Given the description of an element on the screen output the (x, y) to click on. 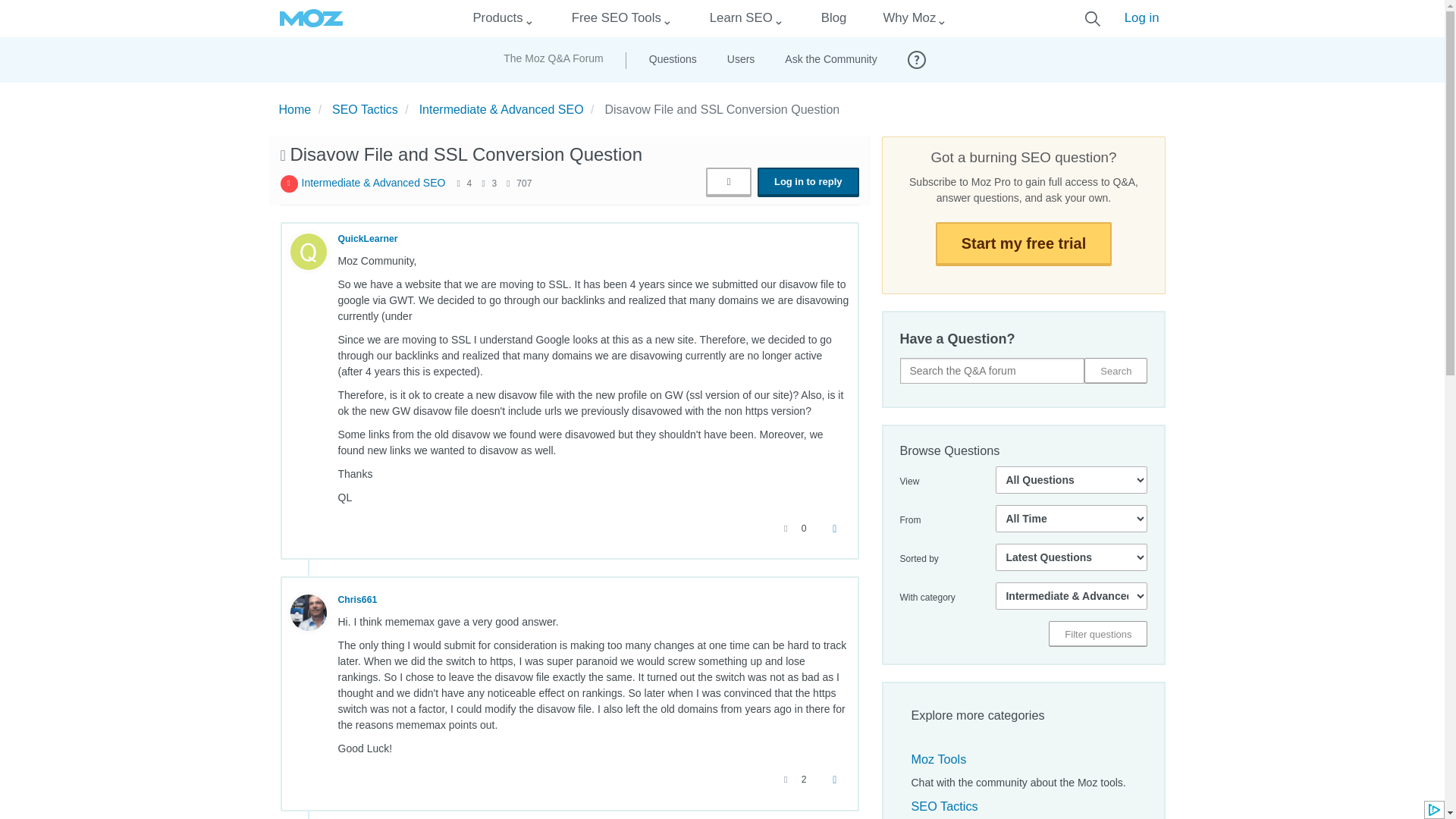
Moz Home (311, 18)
Products (496, 18)
Moz logo (311, 18)
Search (1115, 370)
Moz logo (311, 18)
Filter questions (1097, 633)
